Given the description of an element on the screen output the (x, y) to click on. 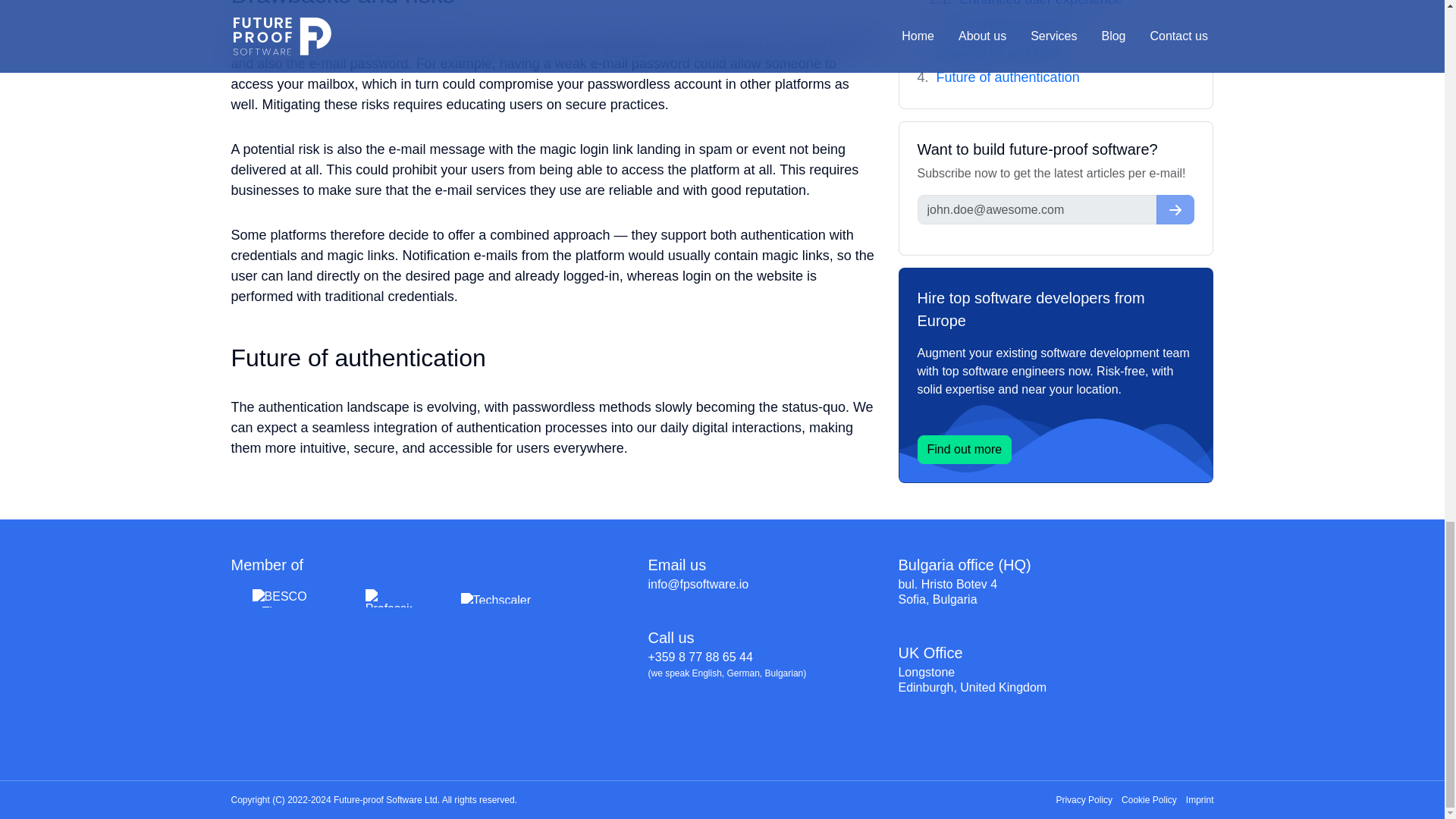
Cookie Policy (1148, 799)
Privacy Policy (1083, 799)
Techscaler (496, 597)
Imprint (1200, 799)
